Given the description of an element on the screen output the (x, y) to click on. 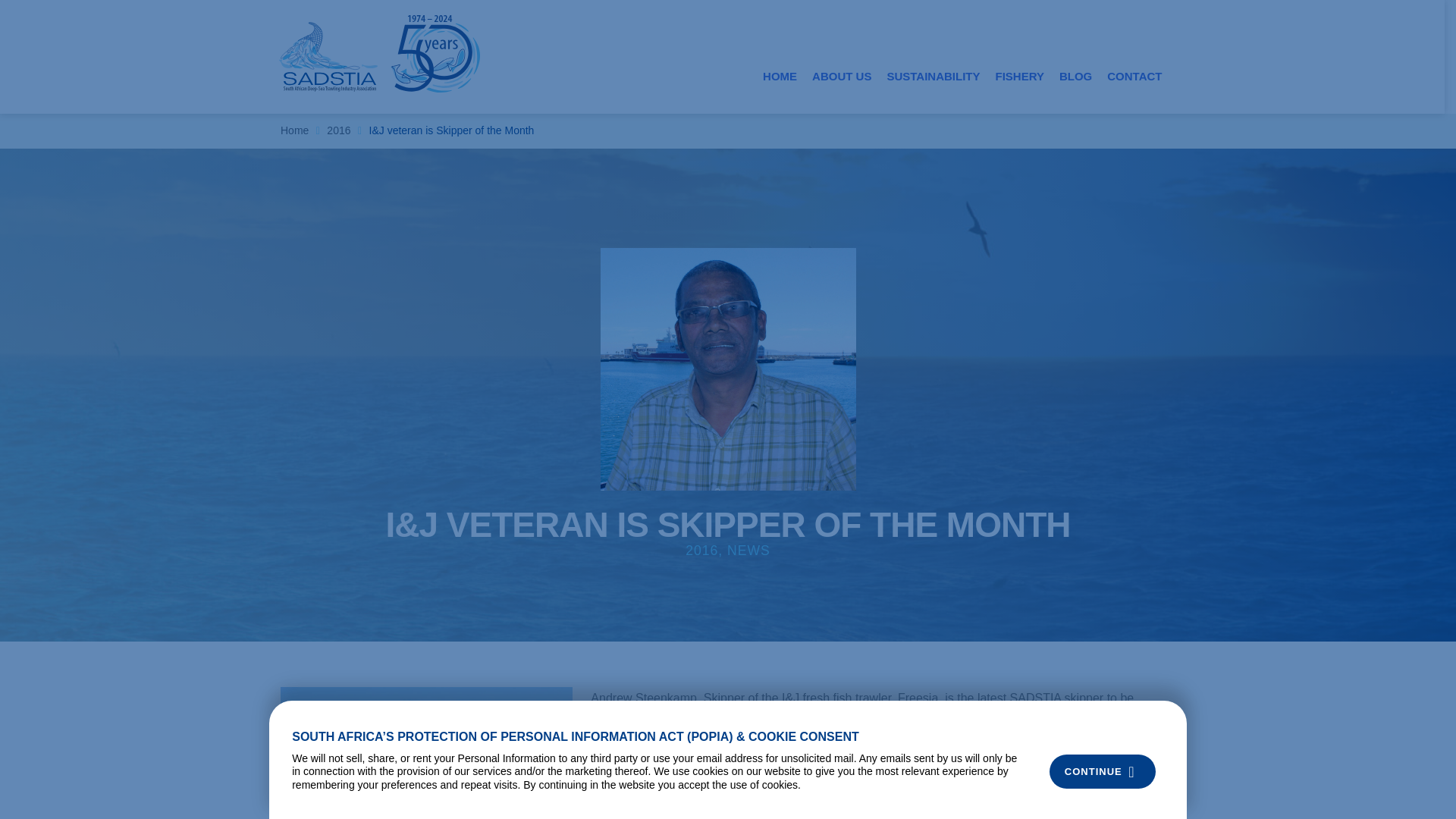
SUSTAINABILITY (933, 76)
2016 (338, 130)
BLOG (1075, 76)
ABOUT US (842, 76)
HOME (780, 76)
Home (294, 130)
CONTACT (1134, 76)
FISHERY (1019, 76)
